Given the description of an element on the screen output the (x, y) to click on. 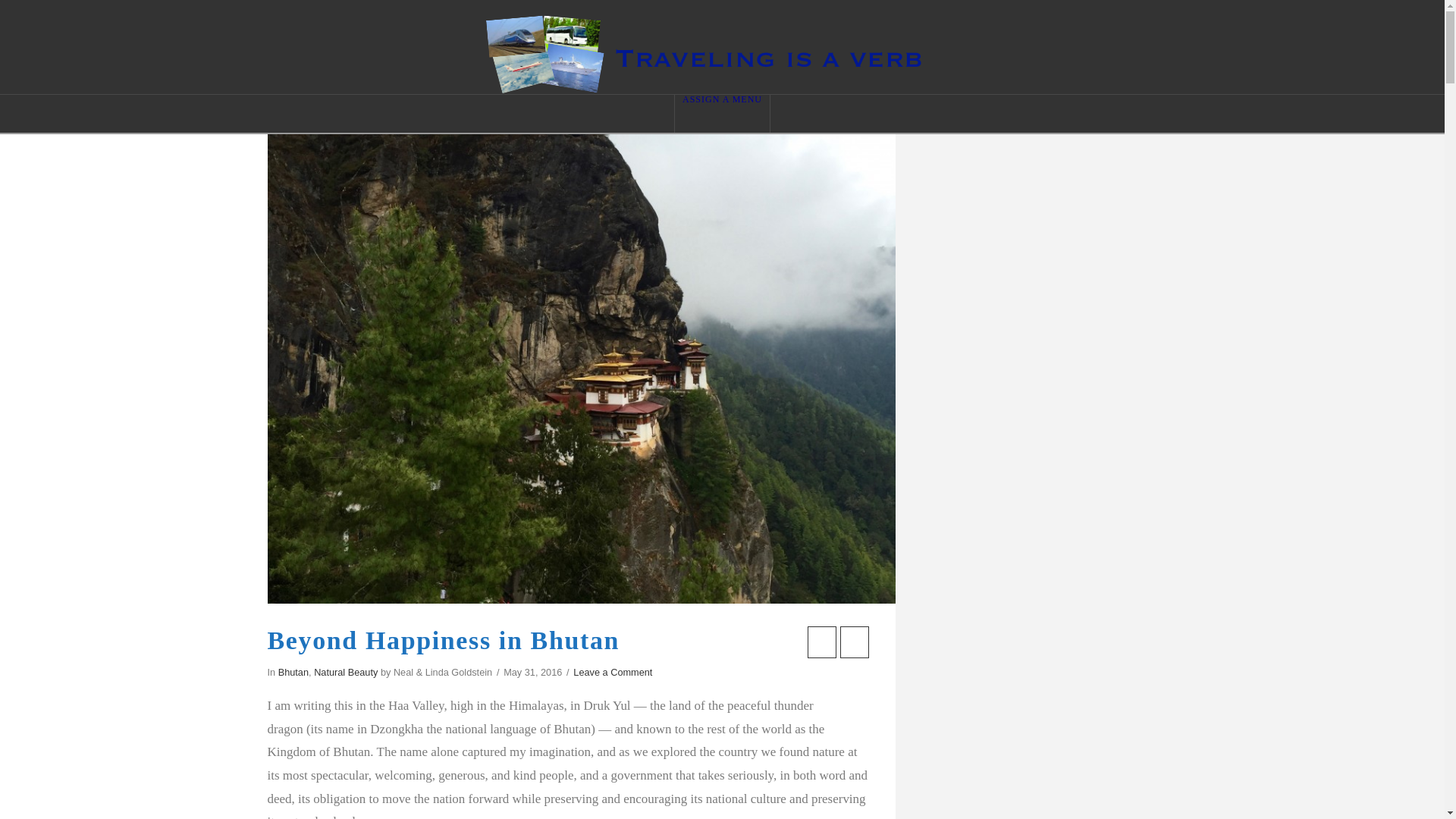
Bhutan (293, 672)
ASSIGN A MENU (722, 113)
Leave a Comment (612, 672)
Natural Beauty (345, 672)
